Given the description of an element on the screen output the (x, y) to click on. 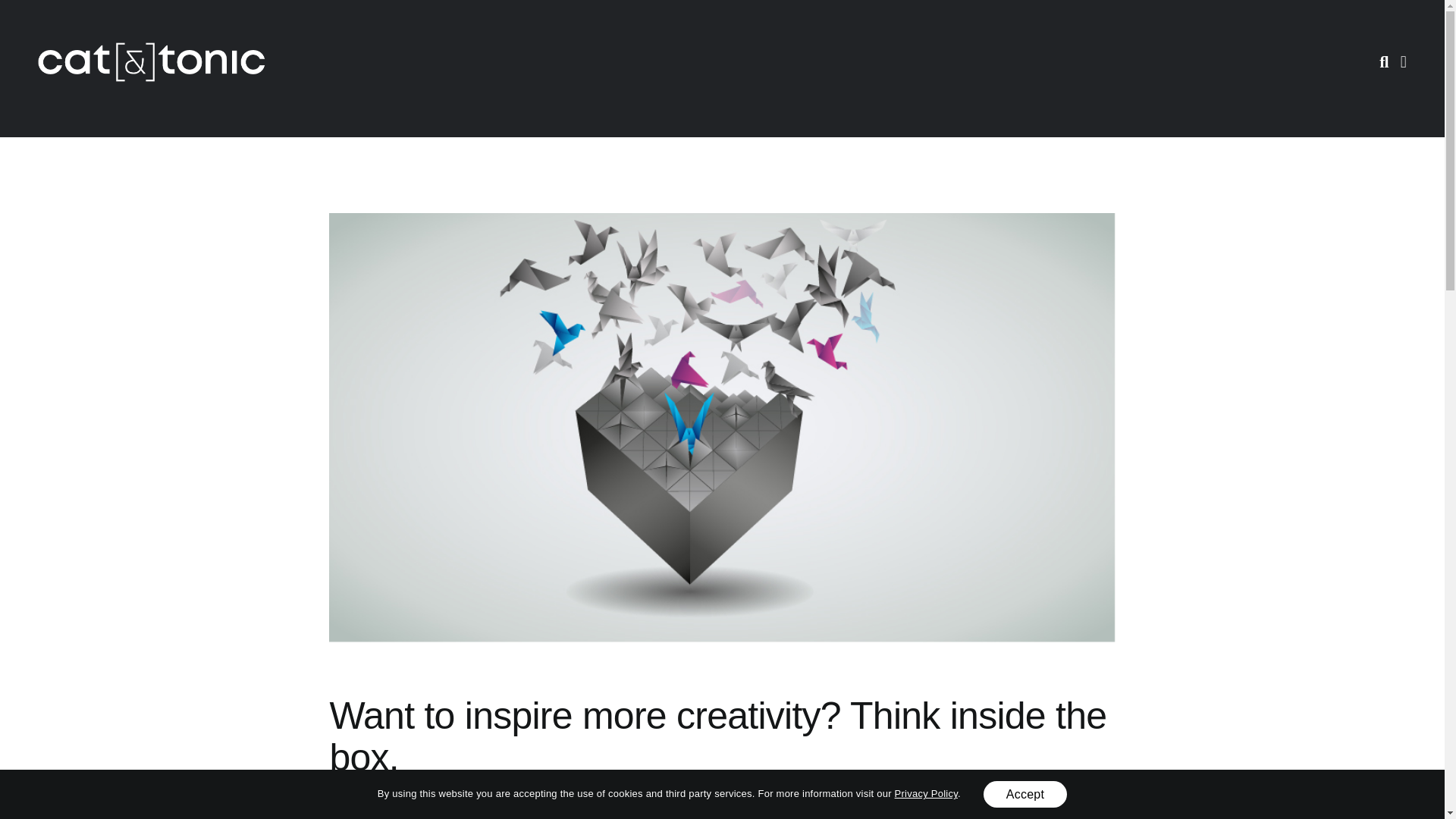
Posts by Mark Zukor (369, 803)
Mark Zukor (369, 803)
Privacy Policy (926, 793)
Accept (1025, 794)
